Given the description of an element on the screen output the (x, y) to click on. 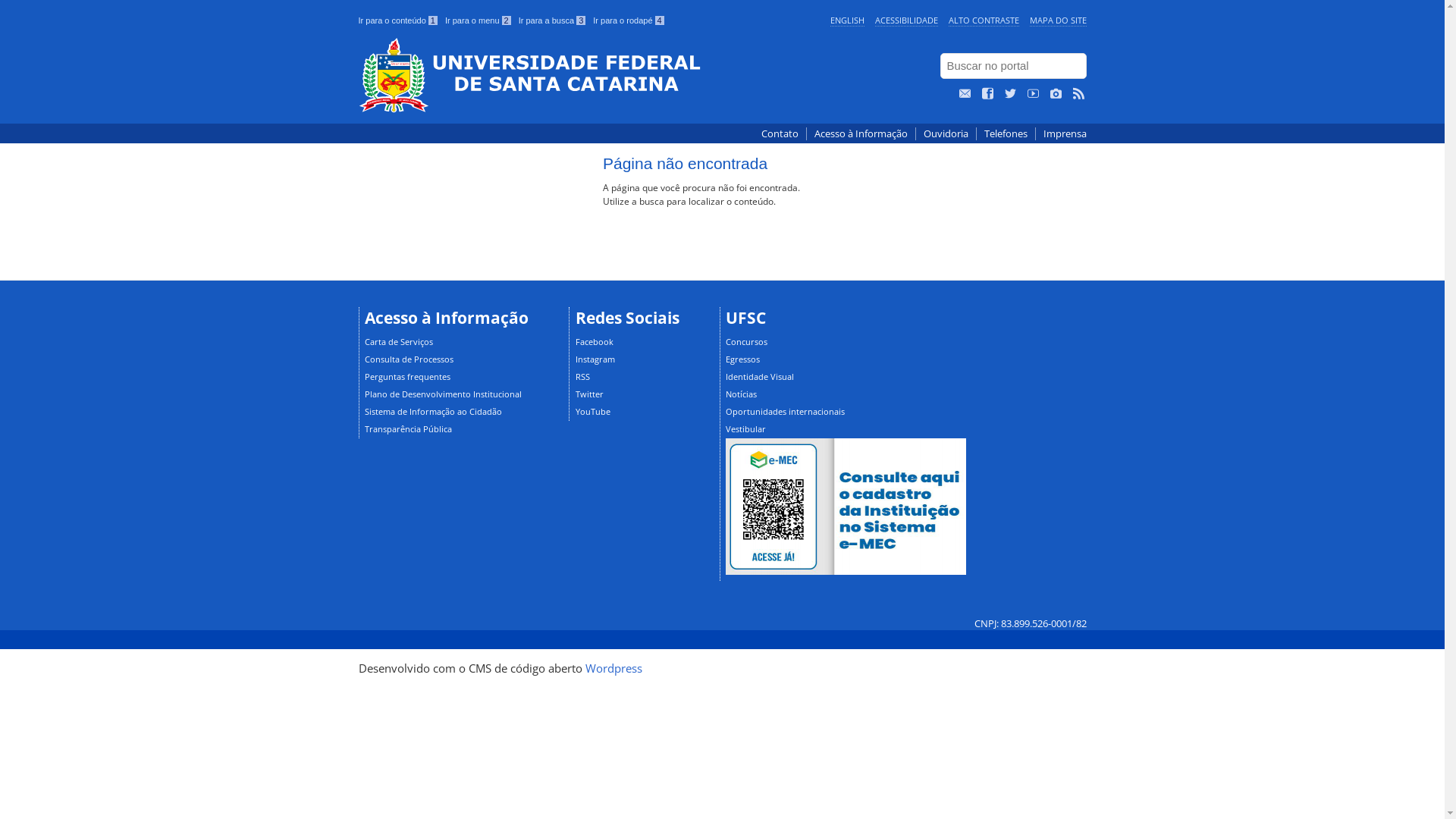
Twitter Element type: text (589, 393)
Telefones Element type: text (1005, 133)
Ouvidoria Element type: text (946, 133)
Ir para a busca 3 Element type: text (552, 20)
Egressos Element type: text (742, 358)
Identidade Visual Element type: text (759, 376)
Perguntas frequentes Element type: text (407, 376)
Contato Element type: text (779, 133)
RSS Element type: text (582, 376)
ACESSIBILIDADE Element type: text (906, 19)
Instagram Element type: text (595, 358)
Vestibular Element type: text (745, 428)
UFSC no e-MEC Element type: hover (845, 571)
Oportunidades internacionais Element type: text (784, 411)
Imprensa Element type: text (1064, 133)
Siga no Twitter Element type: hover (1010, 93)
Concursos Element type: text (746, 341)
YouTube Element type: text (592, 411)
Facebook Element type: text (594, 341)
Ir para o menu 2 Element type: text (478, 20)
ALTO CONTRASTE Element type: text (982, 19)
Acesse o Webmail UFSC Element type: hover (964, 93)
Curta no Facebook Element type: hover (987, 93)
Veja no Instagram Element type: hover (1055, 93)
MAPA DO SITE Element type: text (1057, 19)
Plano de Desenvolvimento Institucional Element type: text (442, 393)
Wordpress Element type: text (613, 667)
Consulta de Processos Element type: text (408, 358)
UFSC no e-MEC Element type: hover (845, 506)
ENGLISH Element type: text (846, 19)
